Given the description of an element on the screen output the (x, y) to click on. 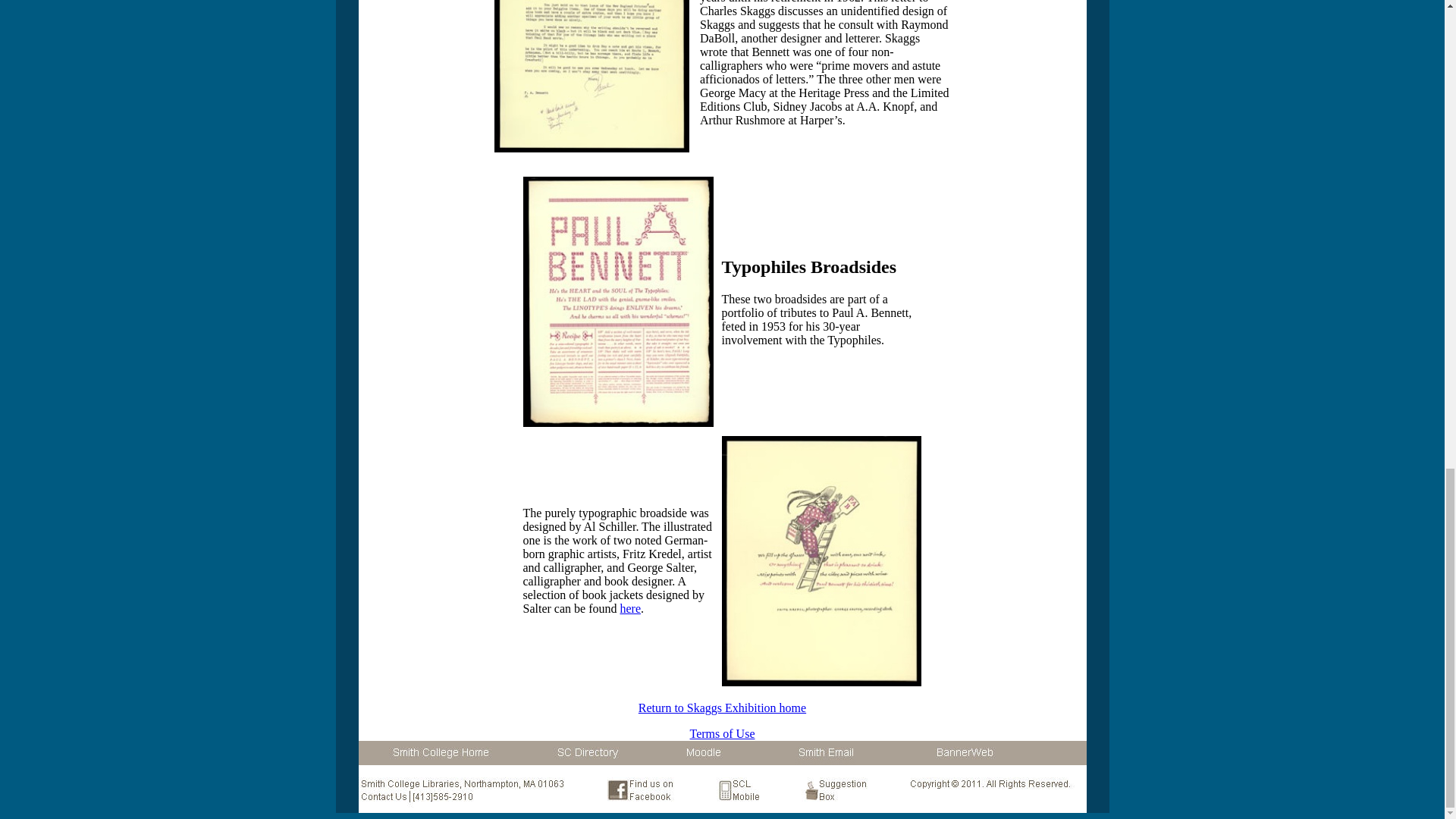
Terms of Use (722, 733)
Return to Skaggs Exhibition home (722, 707)
here (630, 608)
